Given the description of an element on the screen output the (x, y) to click on. 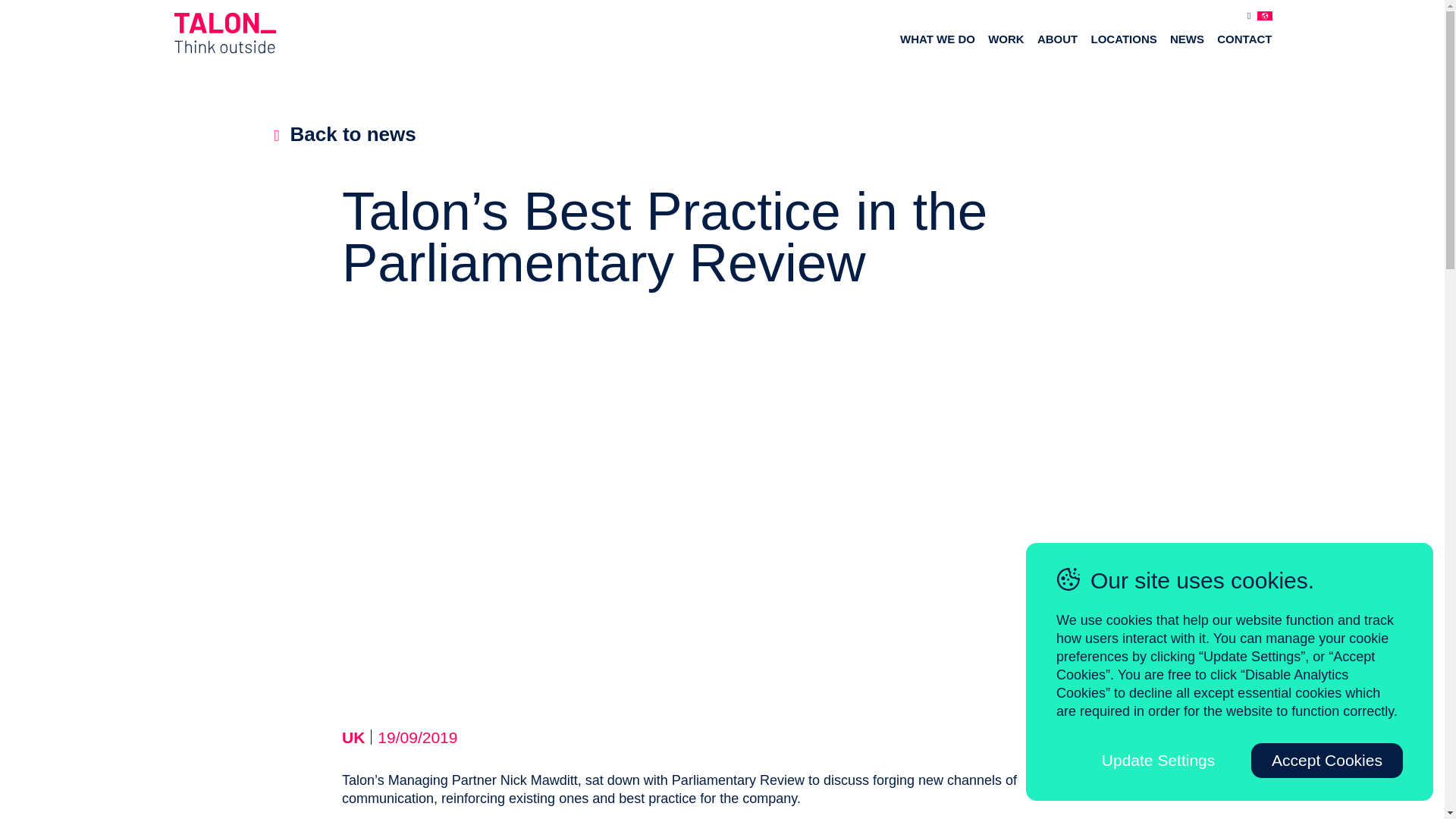
Accept Cookies (1326, 760)
Update Settings (1158, 760)
YOUR LOCATION (1197, 14)
